Given the description of an element on the screen output the (x, y) to click on. 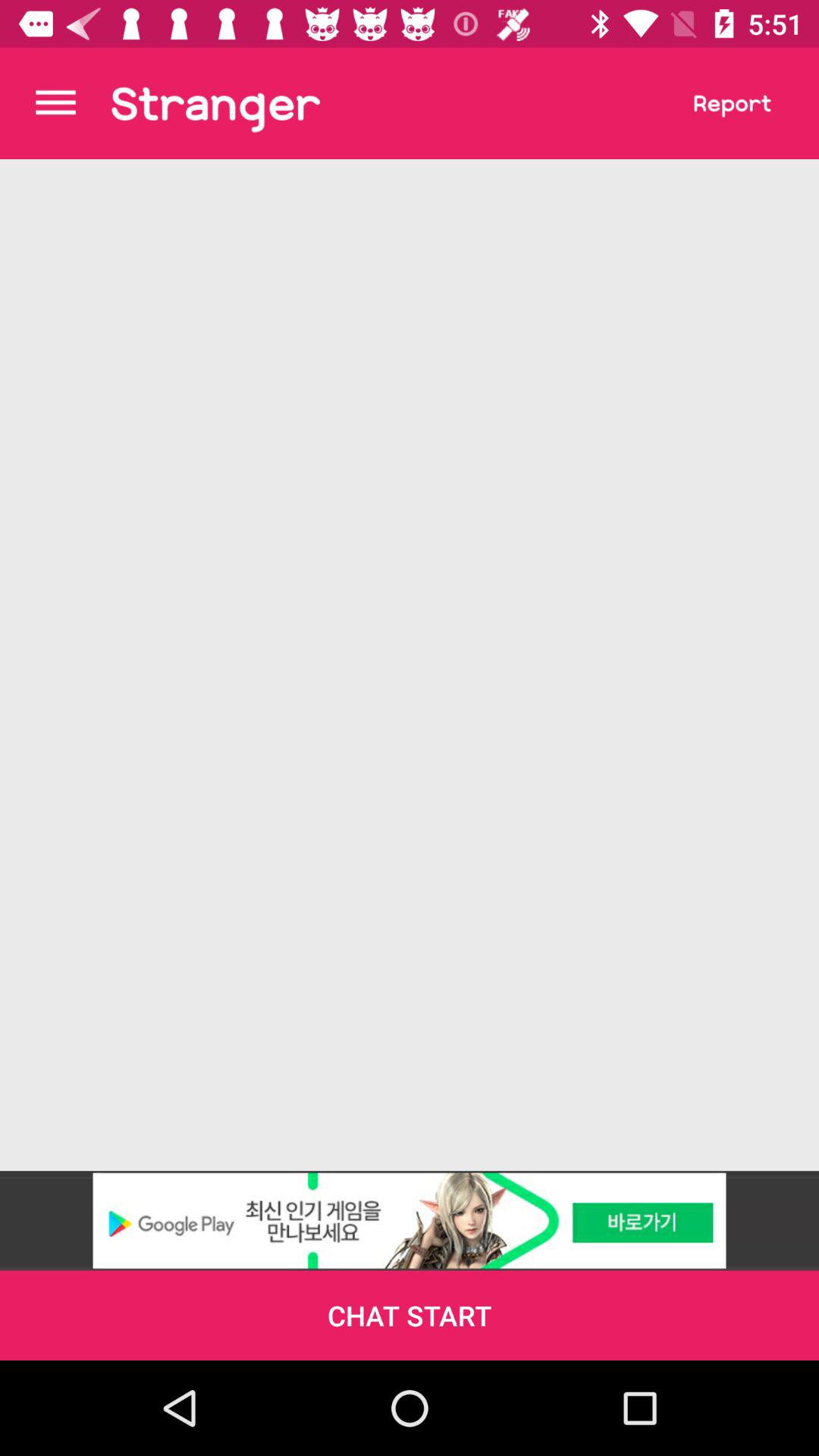
flip to chat start item (409, 1315)
